Given the description of an element on the screen output the (x, y) to click on. 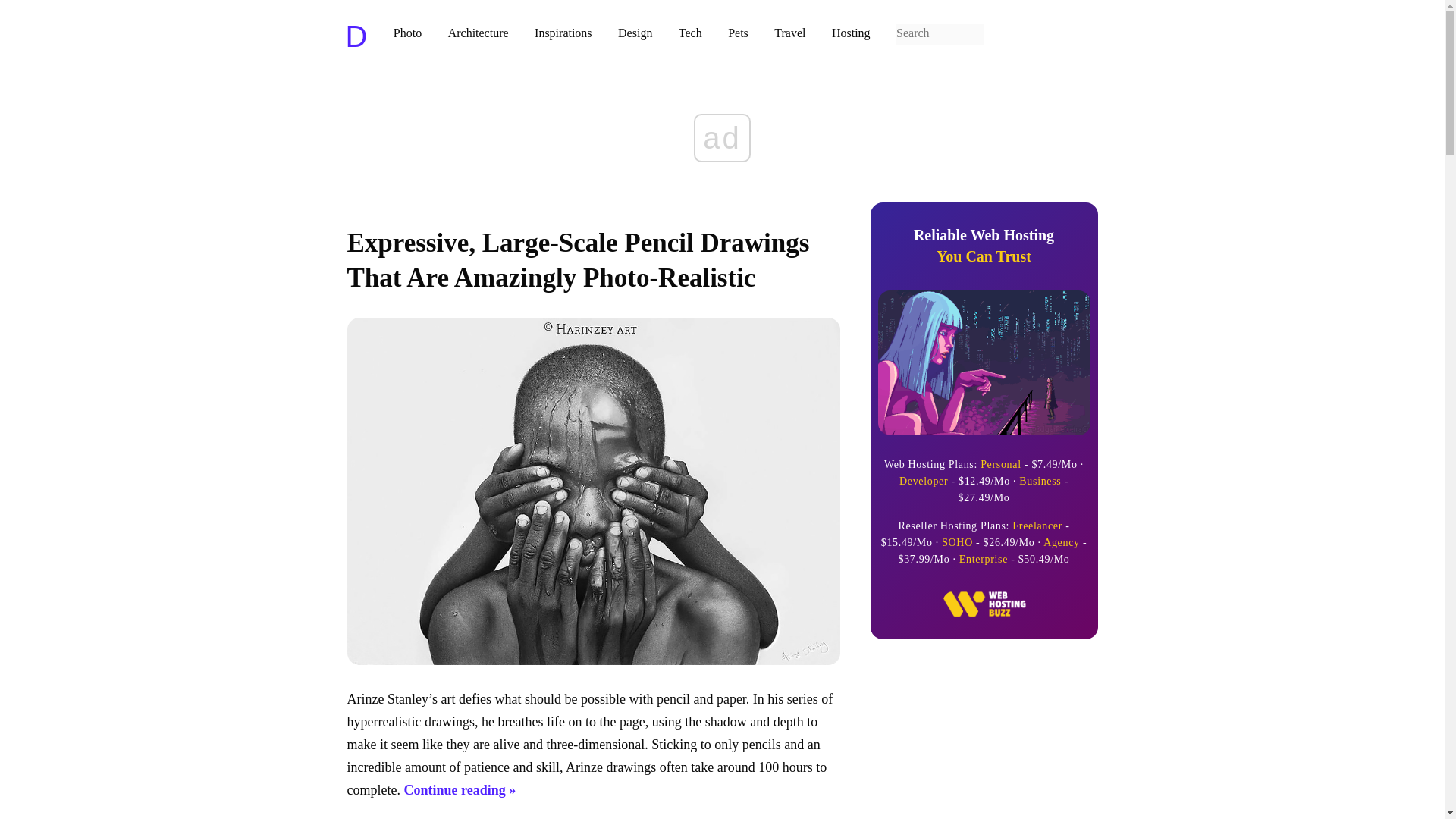
Tech (689, 32)
Design (634, 32)
Hosting (850, 32)
Inspirations (984, 245)
Travel (563, 32)
Photo (789, 32)
Pets (407, 32)
Architecture (738, 32)
